Given the description of an element on the screen output the (x, y) to click on. 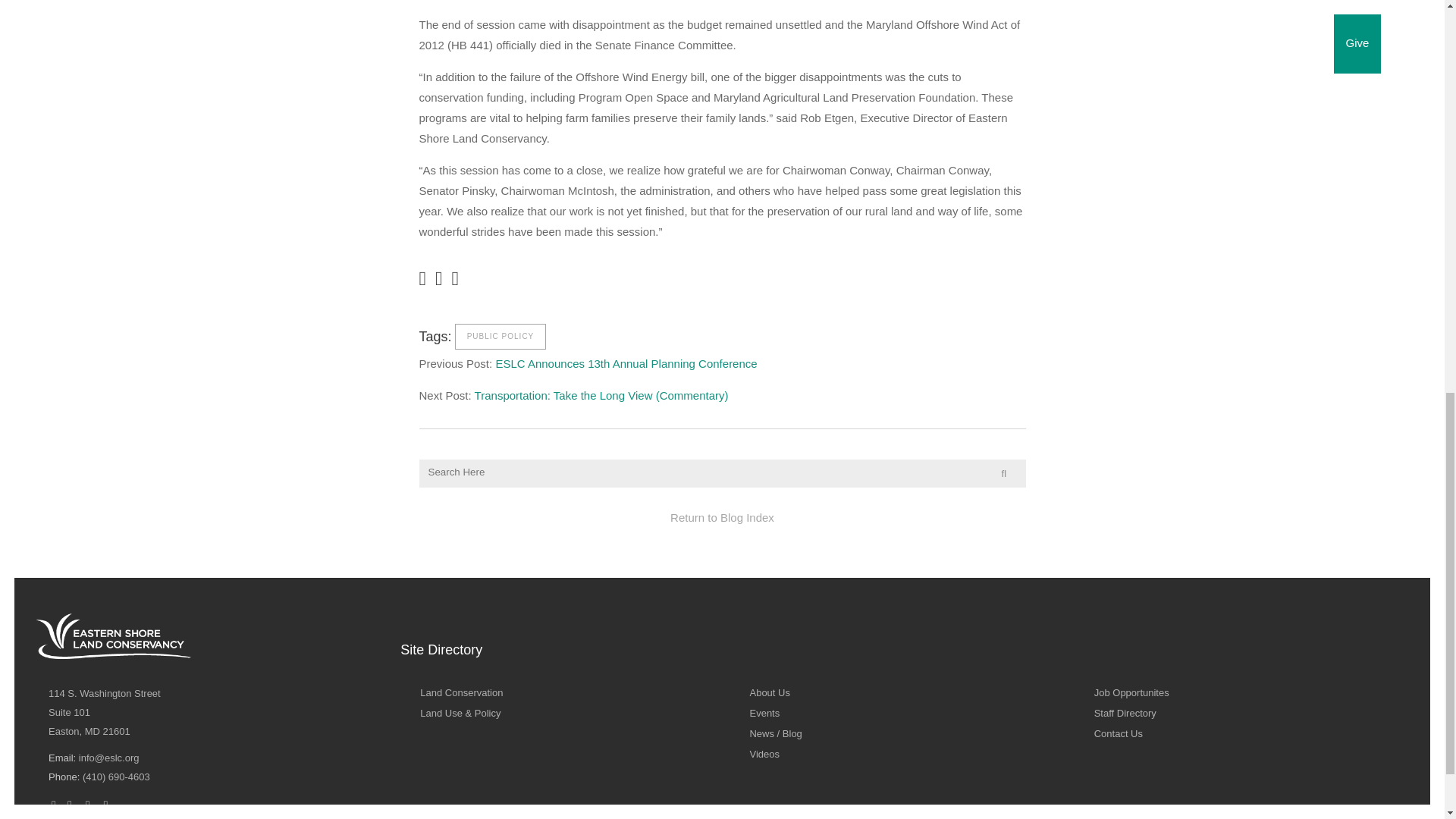
Return to Blog Index (721, 517)
PUBLIC POLICY (104, 712)
Land Conservation (500, 336)
ESLC Announces 13th Annual Planning Conference (461, 692)
